Given the description of an element on the screen output the (x, y) to click on. 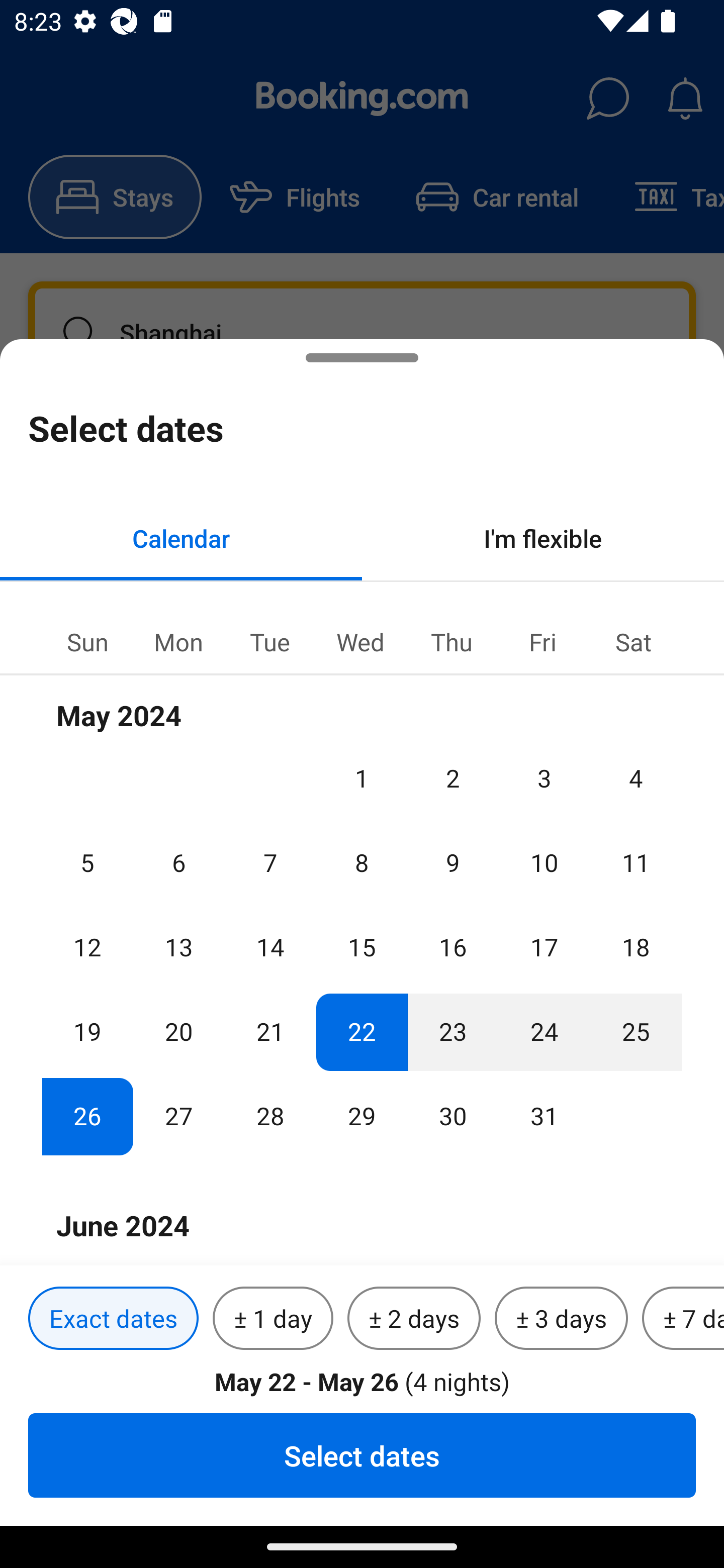
I'm flexible (543, 537)
Exact dates (113, 1318)
± 1 day (272, 1318)
± 2 days (413, 1318)
± 3 days (560, 1318)
± 7 days (683, 1318)
Select dates (361, 1454)
